Given the description of an element on the screen output the (x, y) to click on. 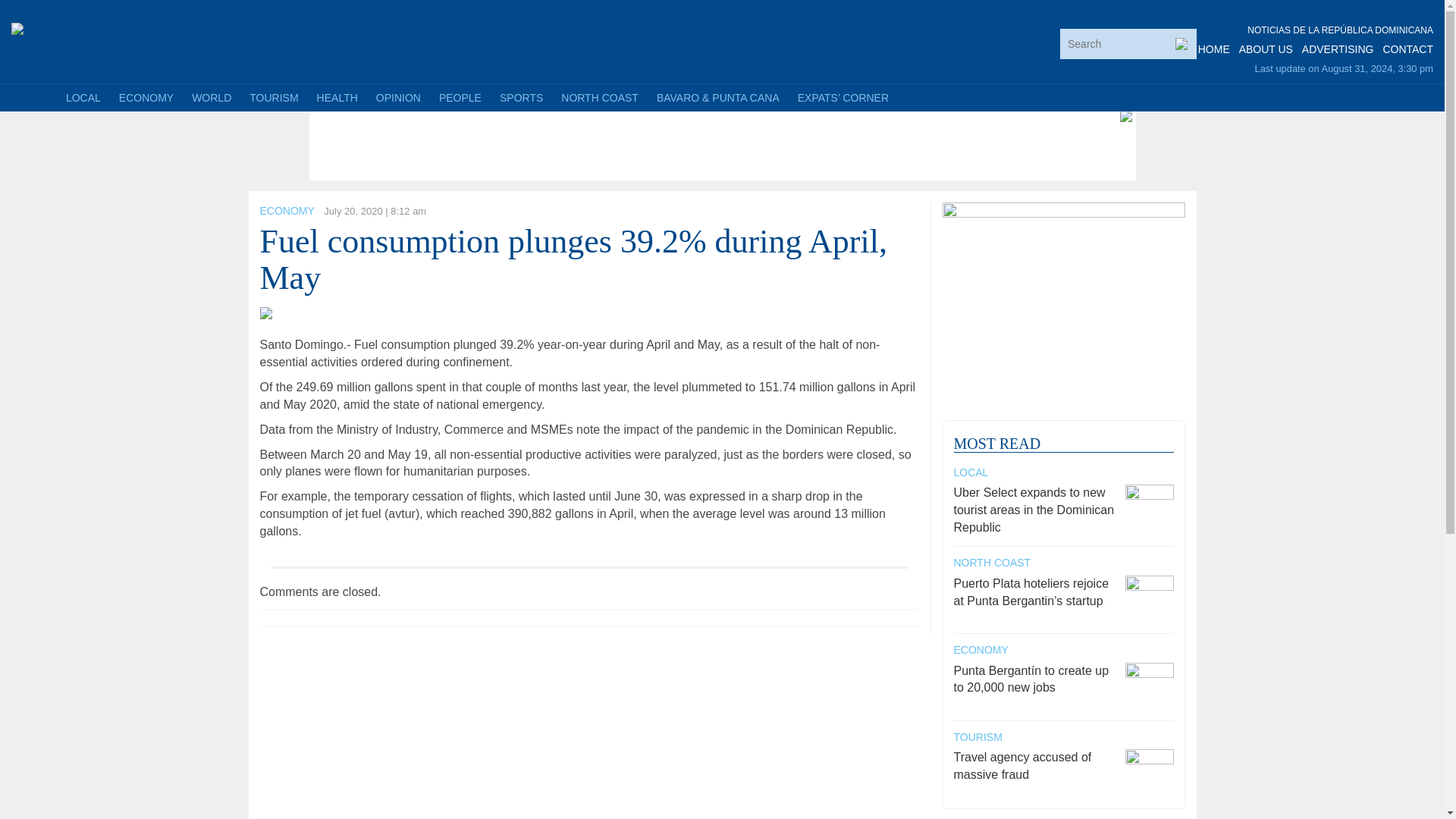
Dominican Today News - Santo Domingo and Dominican Republic (194, 30)
LOCAL (83, 97)
NORTH COAST (599, 97)
CONTACT (1406, 49)
OPINION (397, 97)
ABOUT US (1265, 49)
PEOPLE (459, 97)
HOME (1214, 49)
HEALTH (336, 97)
